Given the description of an element on the screen output the (x, y) to click on. 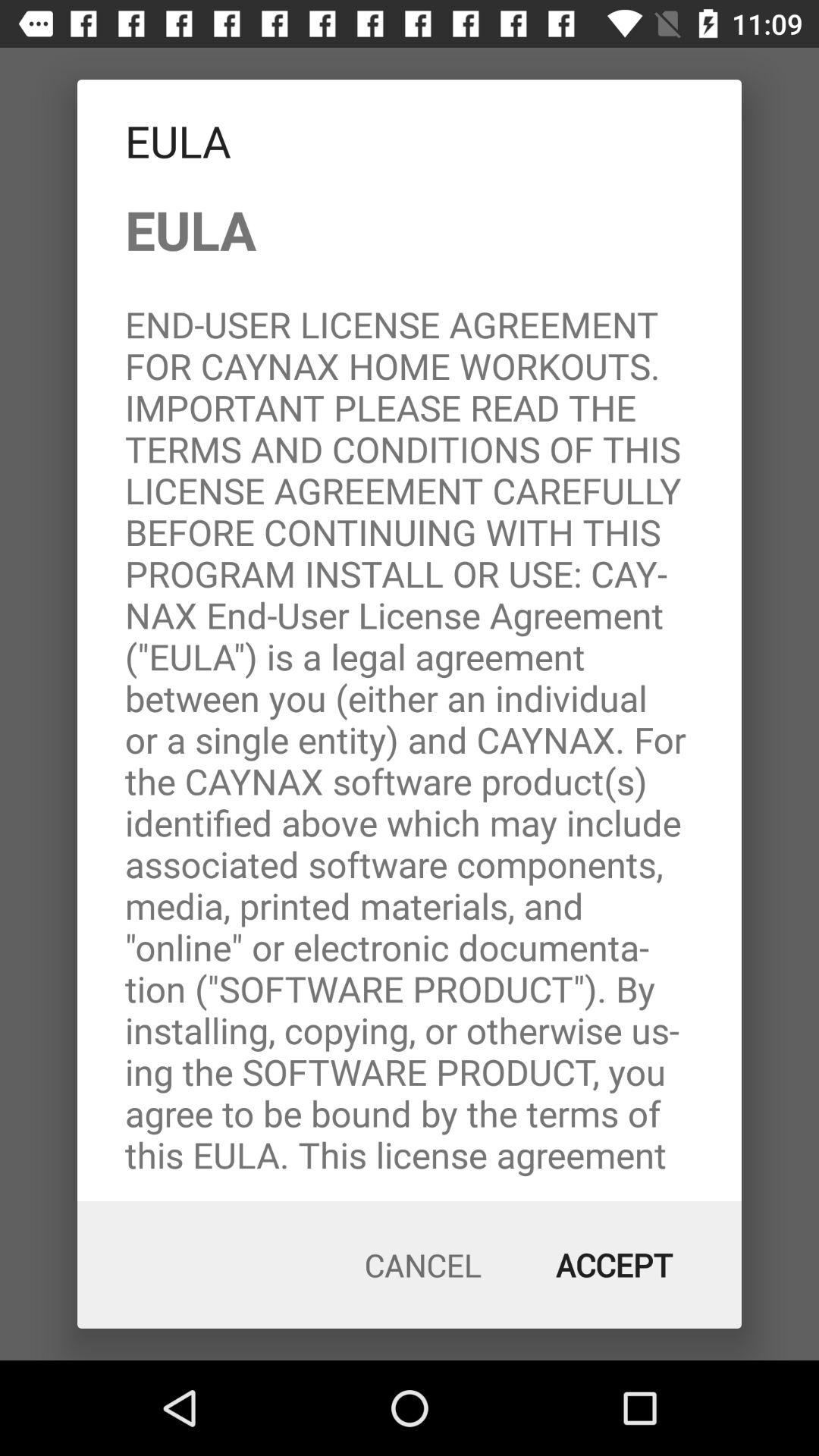
launch item next to cancel (613, 1264)
